Given the description of an element on the screen output the (x, y) to click on. 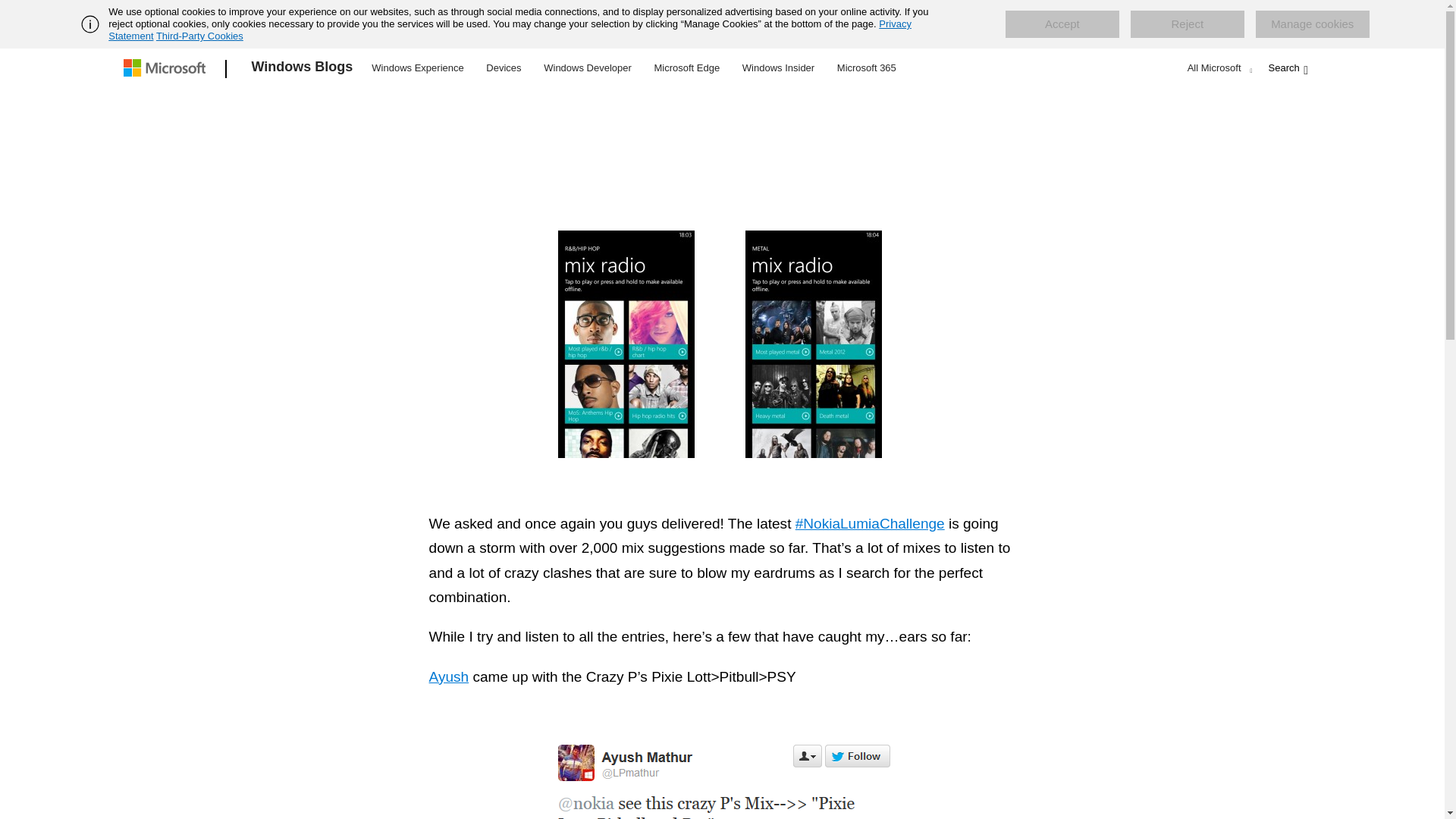
Windows Developer (588, 67)
All Microsoft (1217, 67)
Microsoft 365 (865, 67)
Third-Party Cookies (199, 35)
Windows Blogs (302, 69)
Microsoft (167, 69)
Devices (503, 67)
Privacy Statement (509, 29)
Windows Experience (417, 67)
Windows Insider (778, 67)
